Given the description of an element on the screen output the (x, y) to click on. 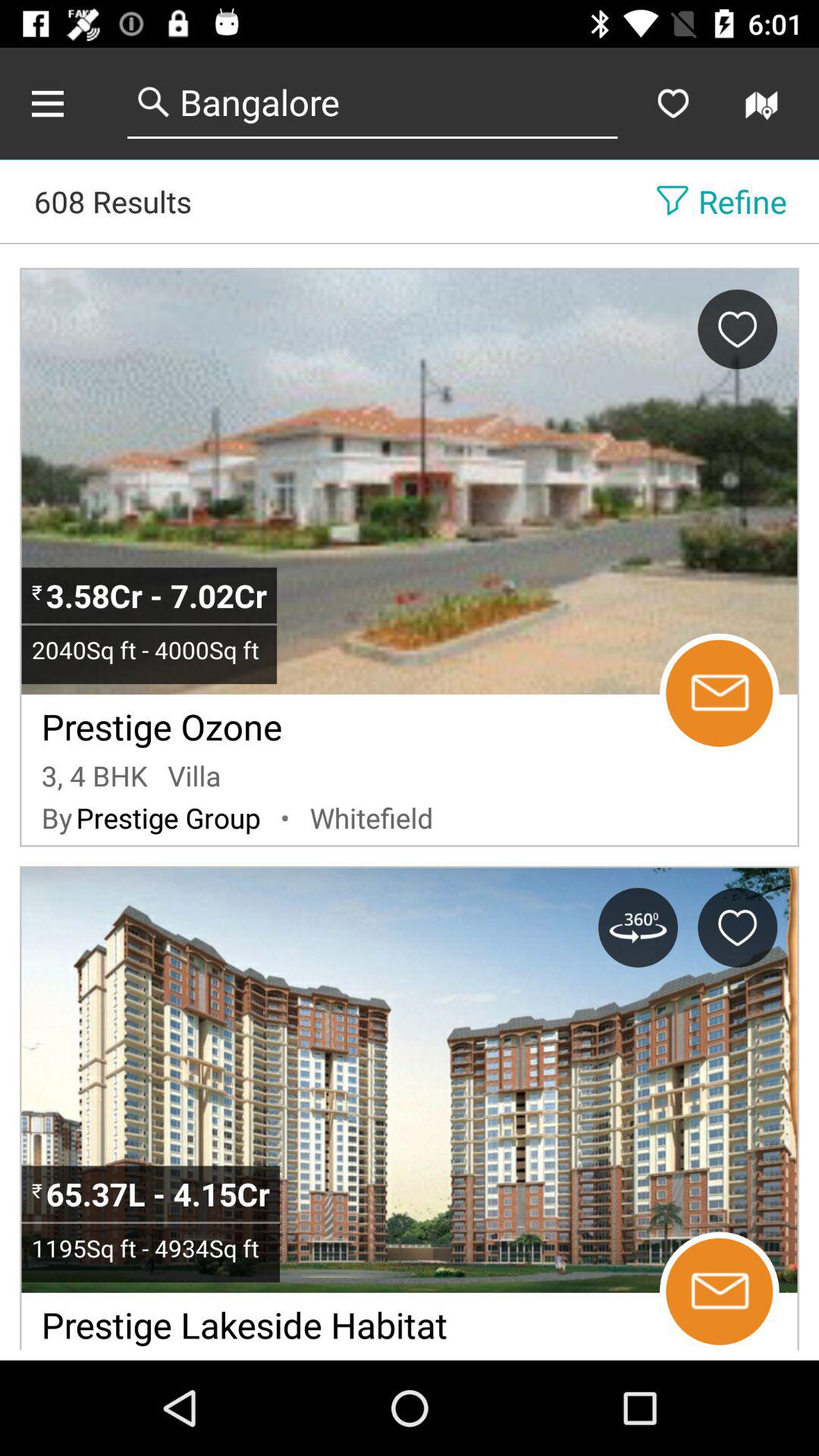
360 degree view (637, 927)
